Given the description of an element on the screen output the (x, y) to click on. 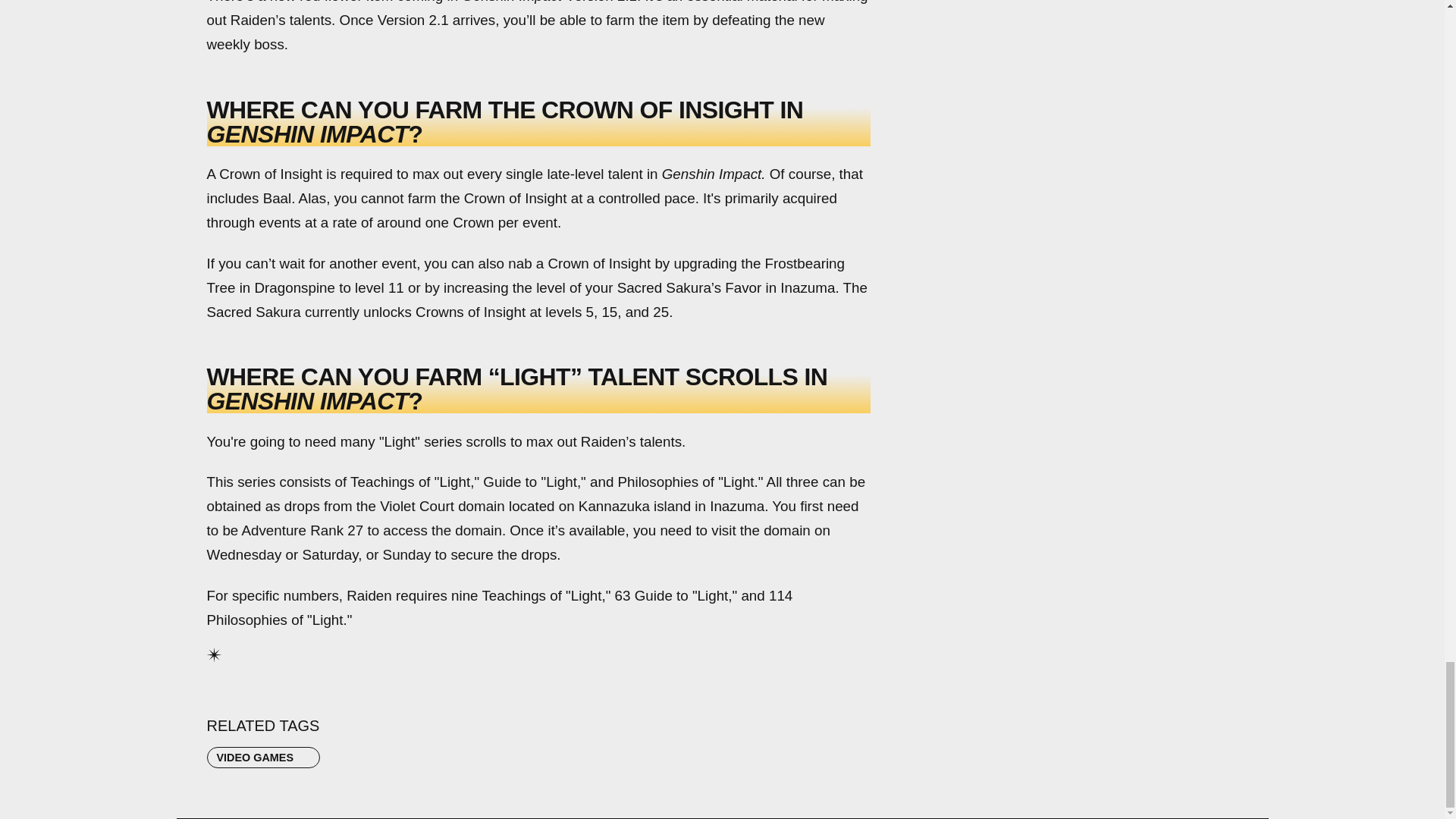
VIDEO GAMES (263, 757)
